Given the description of an element on the screen output the (x, y) to click on. 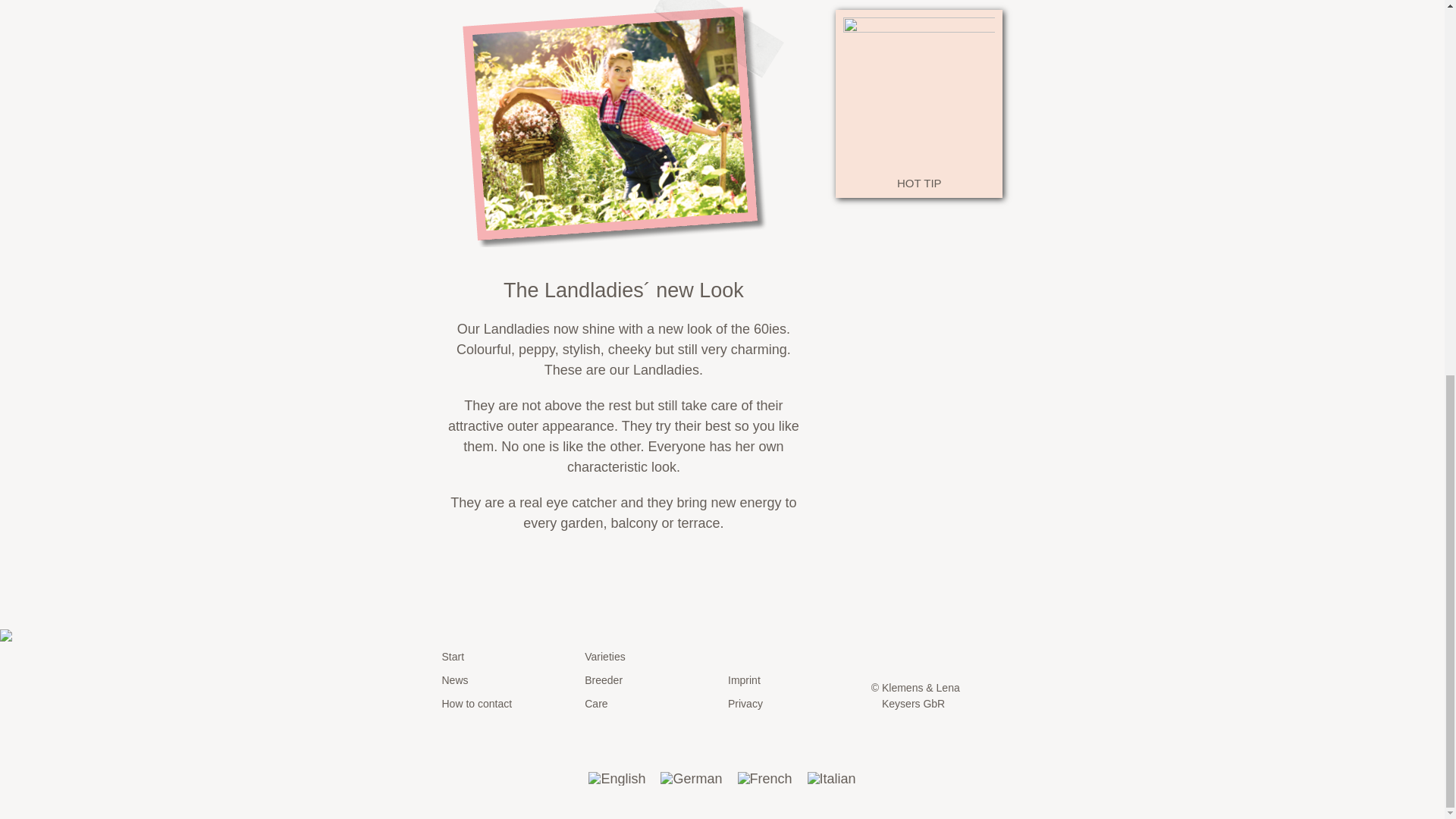
Privacy (794, 703)
Imprint (794, 680)
Care (650, 703)
Start (507, 657)
Breeder (650, 680)
News (507, 680)
Varieties (650, 657)
How to contact (507, 703)
